Given the description of an element on the screen output the (x, y) to click on. 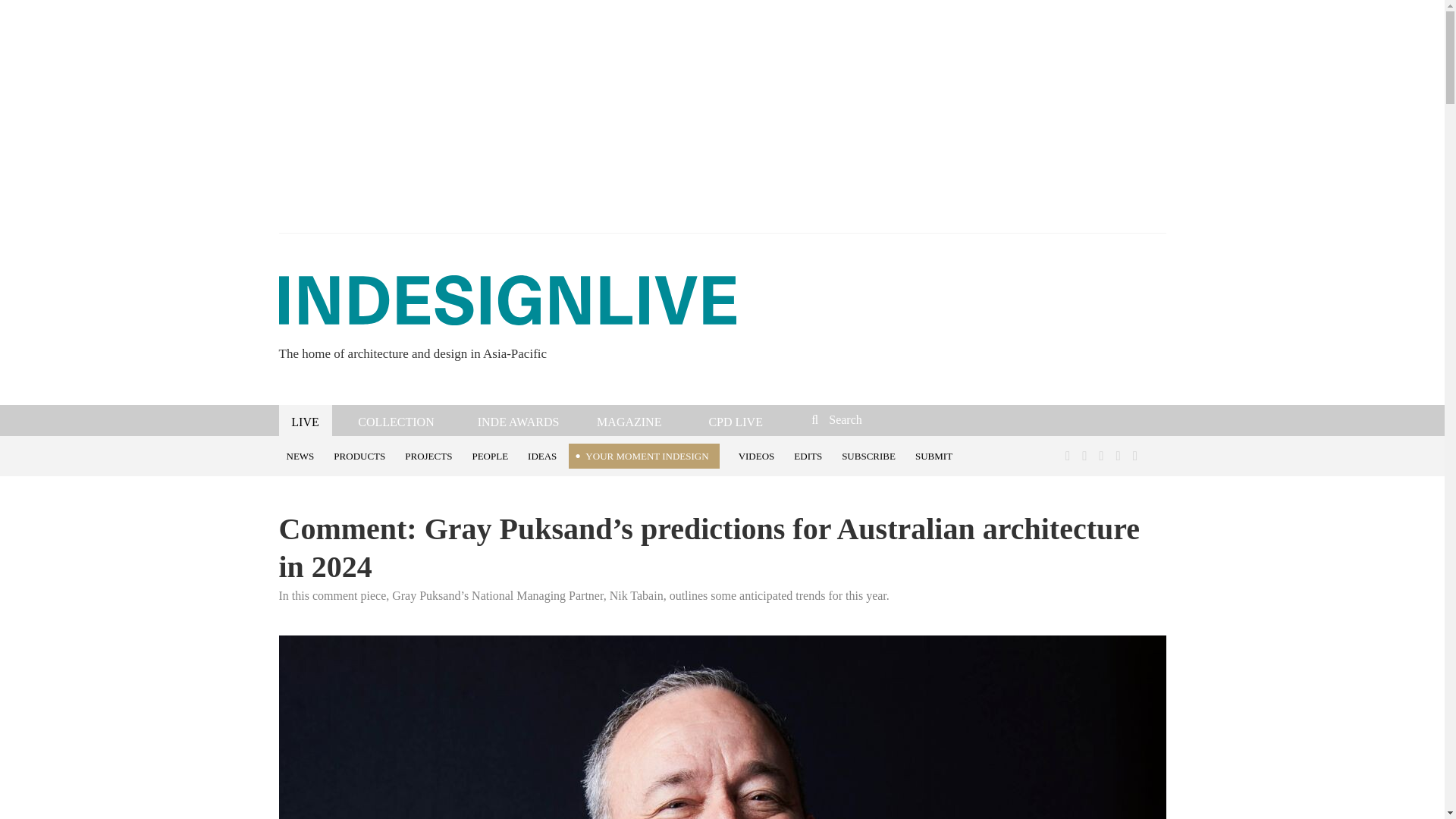
SUBSCRIBE (870, 455)
VIDEOS (758, 455)
YOUR MOMENT INDESIGN (644, 455)
PROJECTS (430, 455)
SUBMIT (935, 455)
PEOPLE (491, 455)
NEWS (302, 455)
IDEAS (544, 455)
Search (913, 418)
EDITS (810, 455)
PRODUCTS (361, 455)
